Given the description of an element on the screen output the (x, y) to click on. 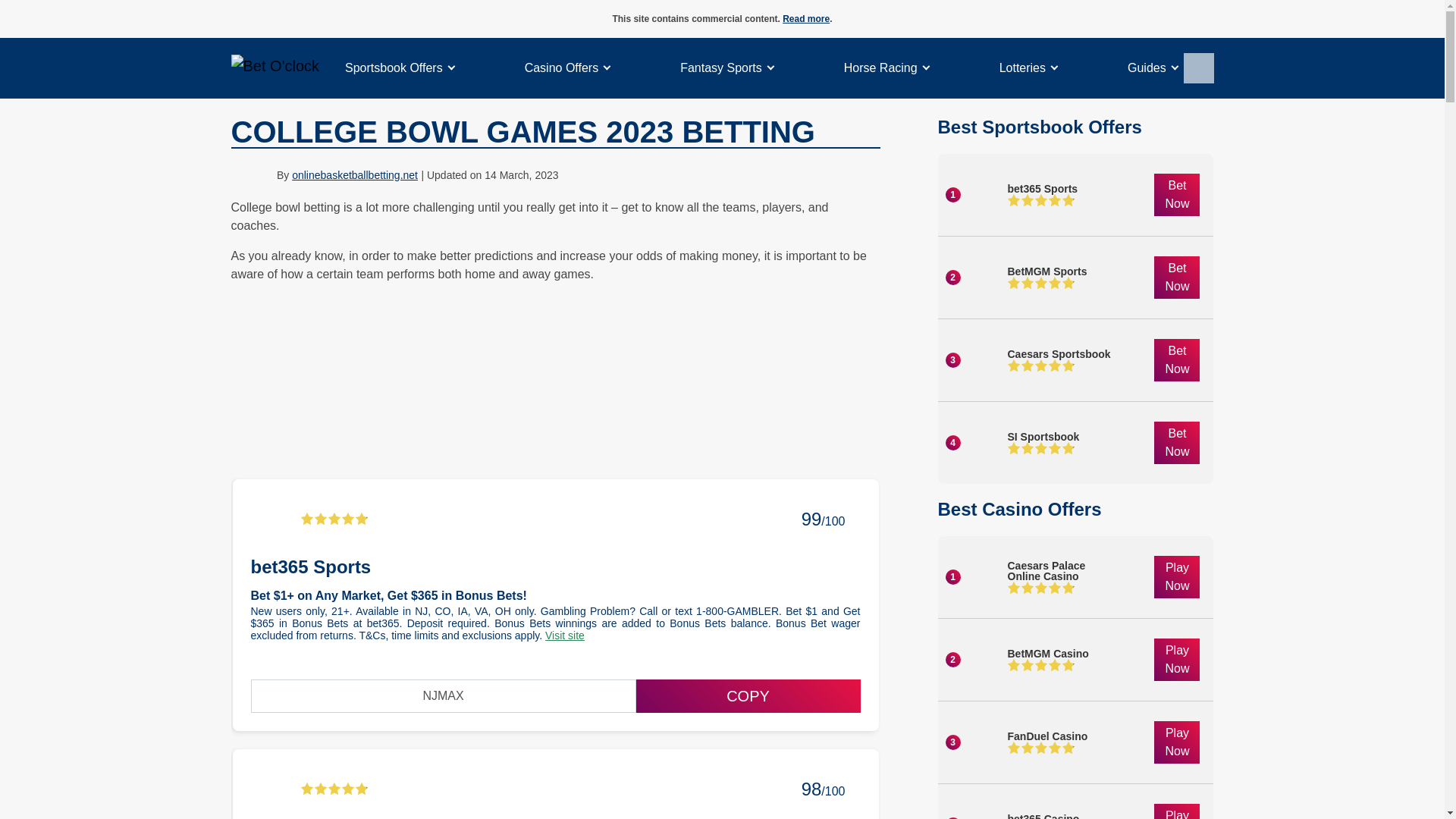
Sportsbook Offers (393, 68)
NJMAX (442, 695)
Casino Offers (561, 68)
Casino Offers (561, 68)
Lotteries (1021, 68)
Horse Racing (880, 68)
Fantasy Sports (721, 68)
Promo Codes (393, 68)
